Given the description of an element on the screen output the (x, y) to click on. 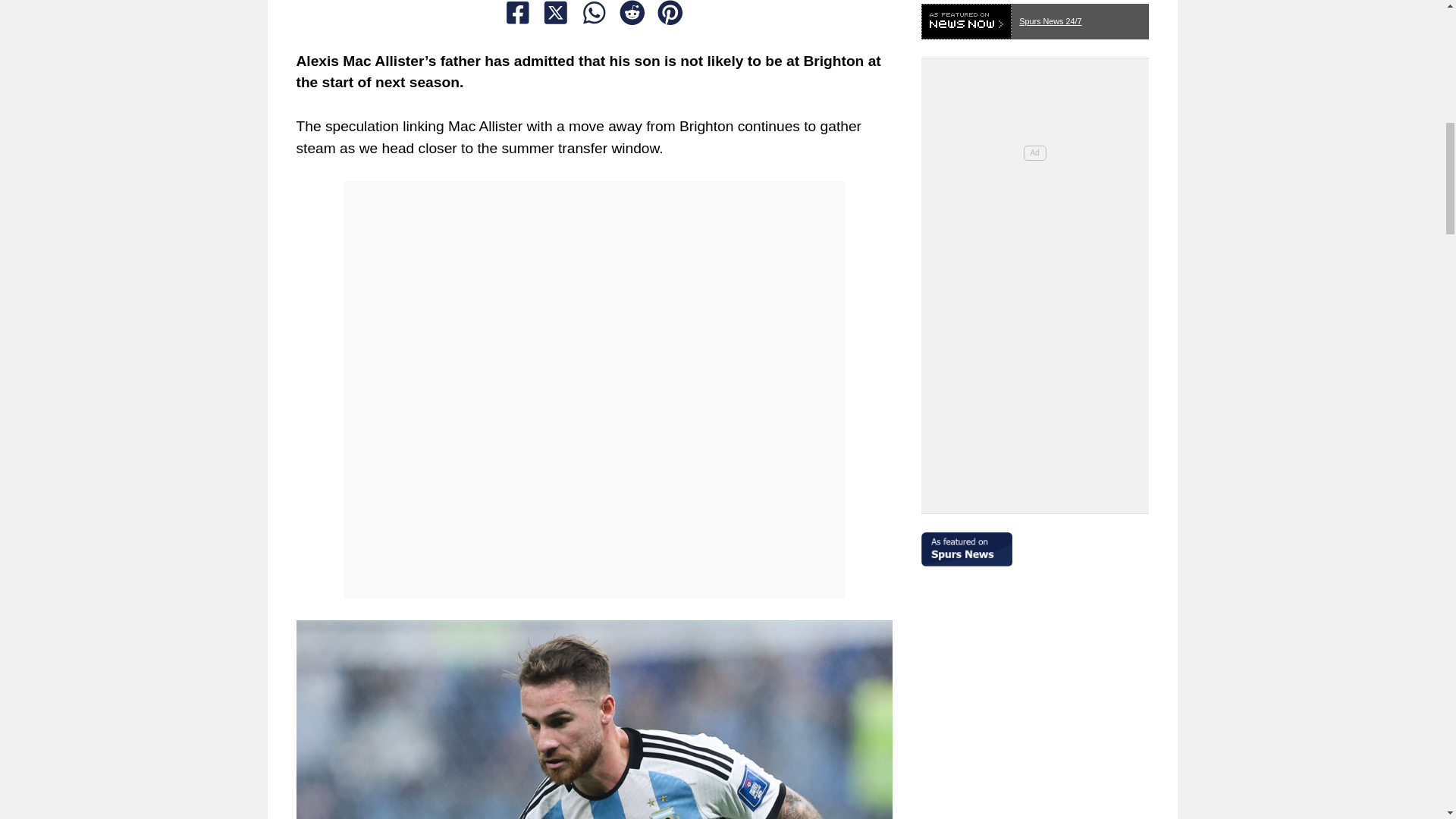
Click here for more Spurs news from NewsNow (1034, 16)
Spurs News (1034, 542)
